Given the description of an element on the screen output the (x, y) to click on. 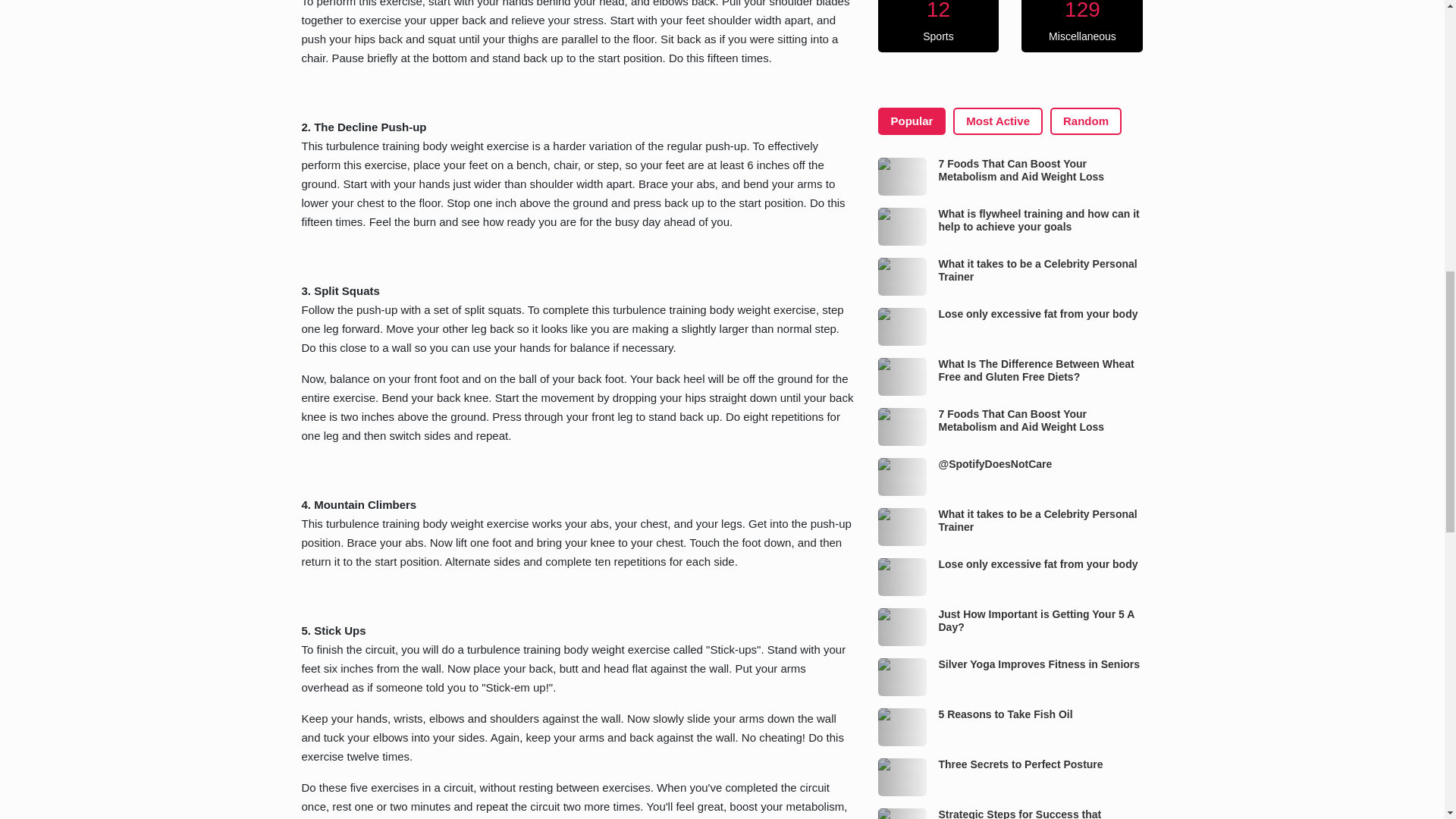
5 Reasons to Take Fish Oil (901, 727)
Lose only excessive fat from your body (901, 576)
7 Foods That Can Boost Your Metabolism and Aid Weight Loss (901, 176)
Most Active (997, 121)
What it takes to be a Celebrity Personal Trainer (901, 276)
Silver Yoga Improves Fitness in Seniors (901, 677)
Three Secrets to Perfect Posture (901, 777)
Popular (911, 121)
Just How Important is Getting Your 5 A Day? (901, 627)
